Given the description of an element on the screen output the (x, y) to click on. 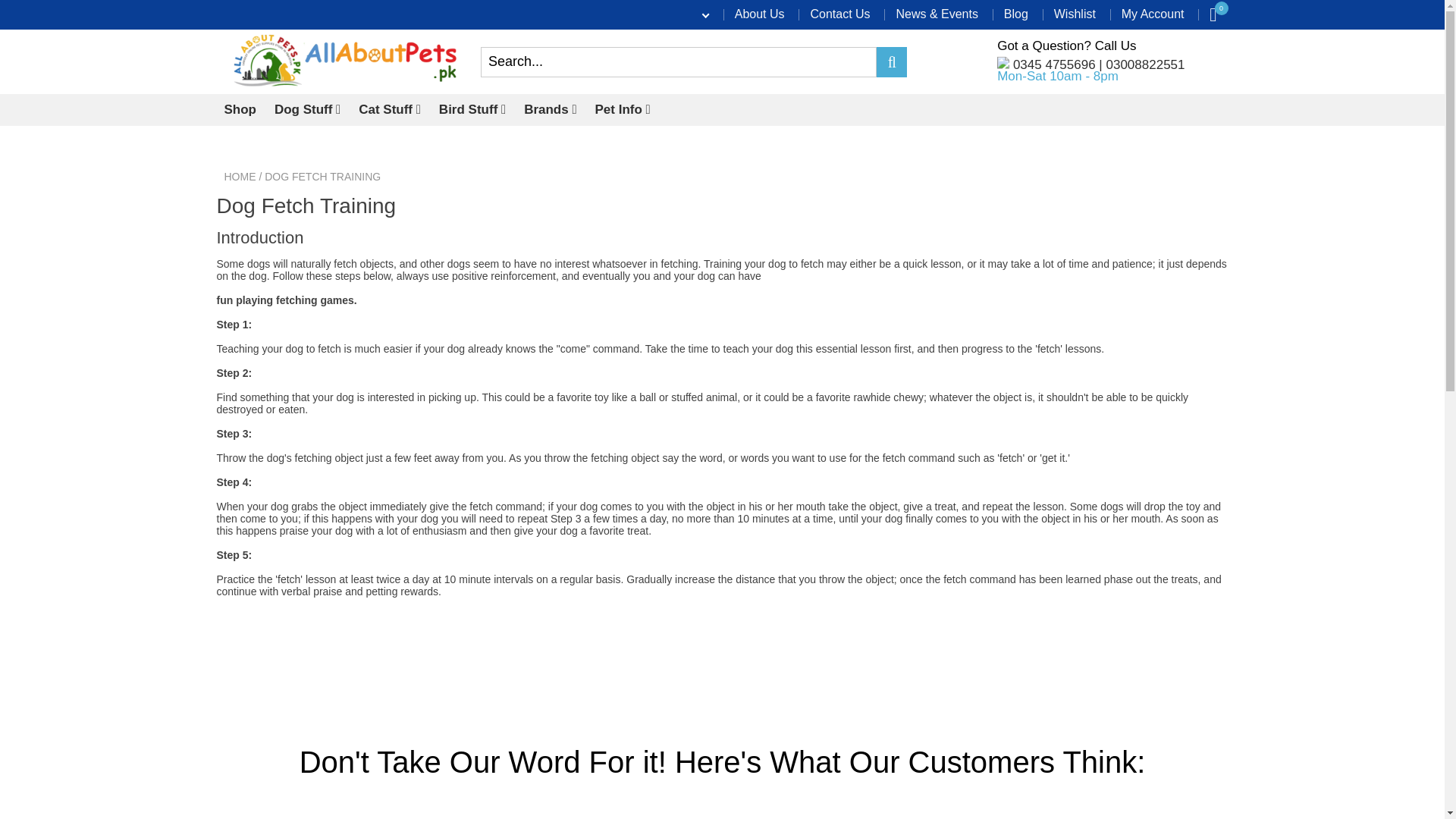
About Us (759, 13)
Shop (240, 110)
Dog Stuff (307, 110)
Contact Us (839, 13)
Wishlist (1075, 13)
Blog (1015, 13)
Back to the home page (240, 176)
My Account (1153, 13)
0 (1212, 14)
